Given the description of an element on the screen output the (x, y) to click on. 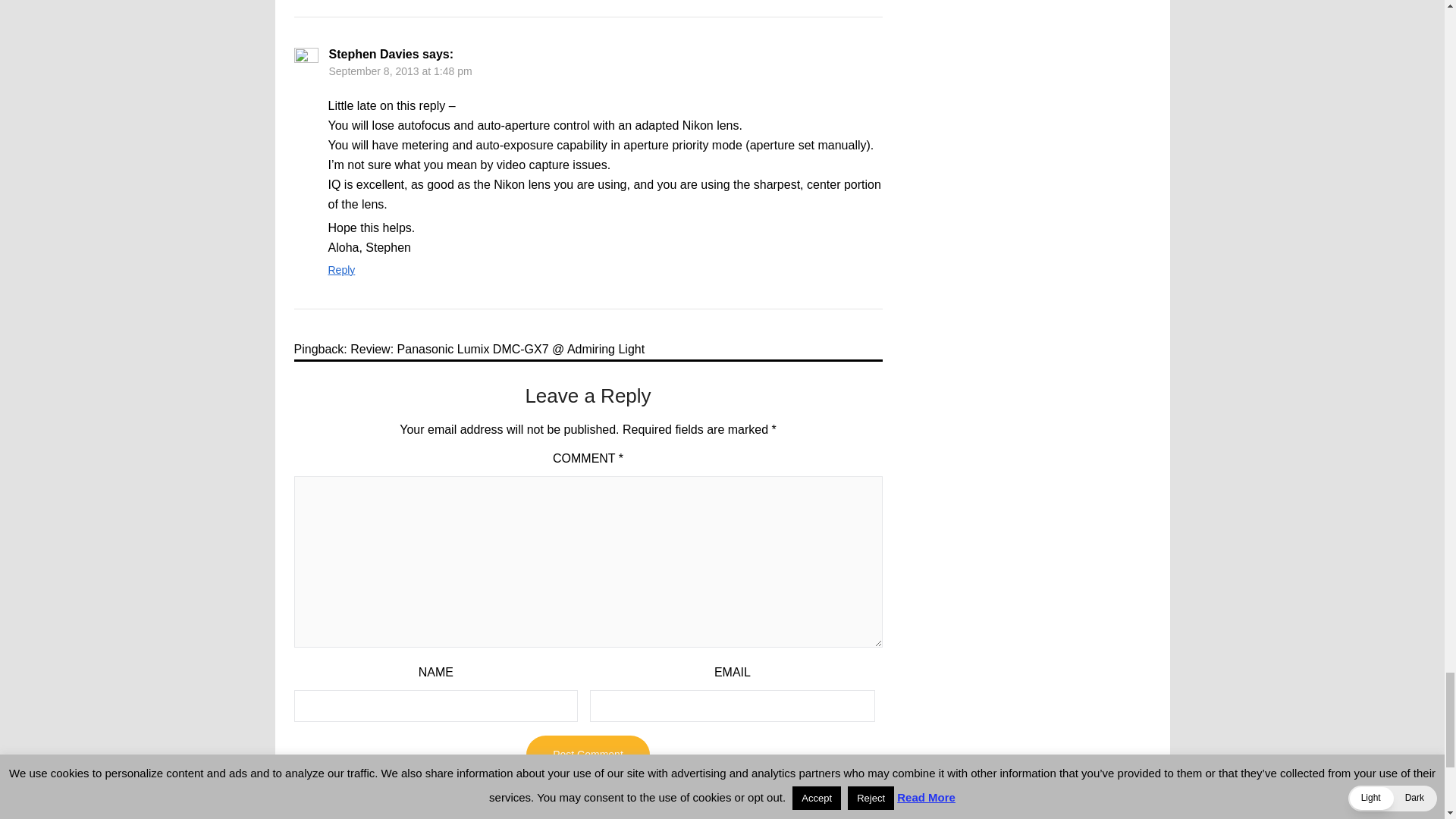
Post Comment (587, 754)
